Given the description of an element on the screen output the (x, y) to click on. 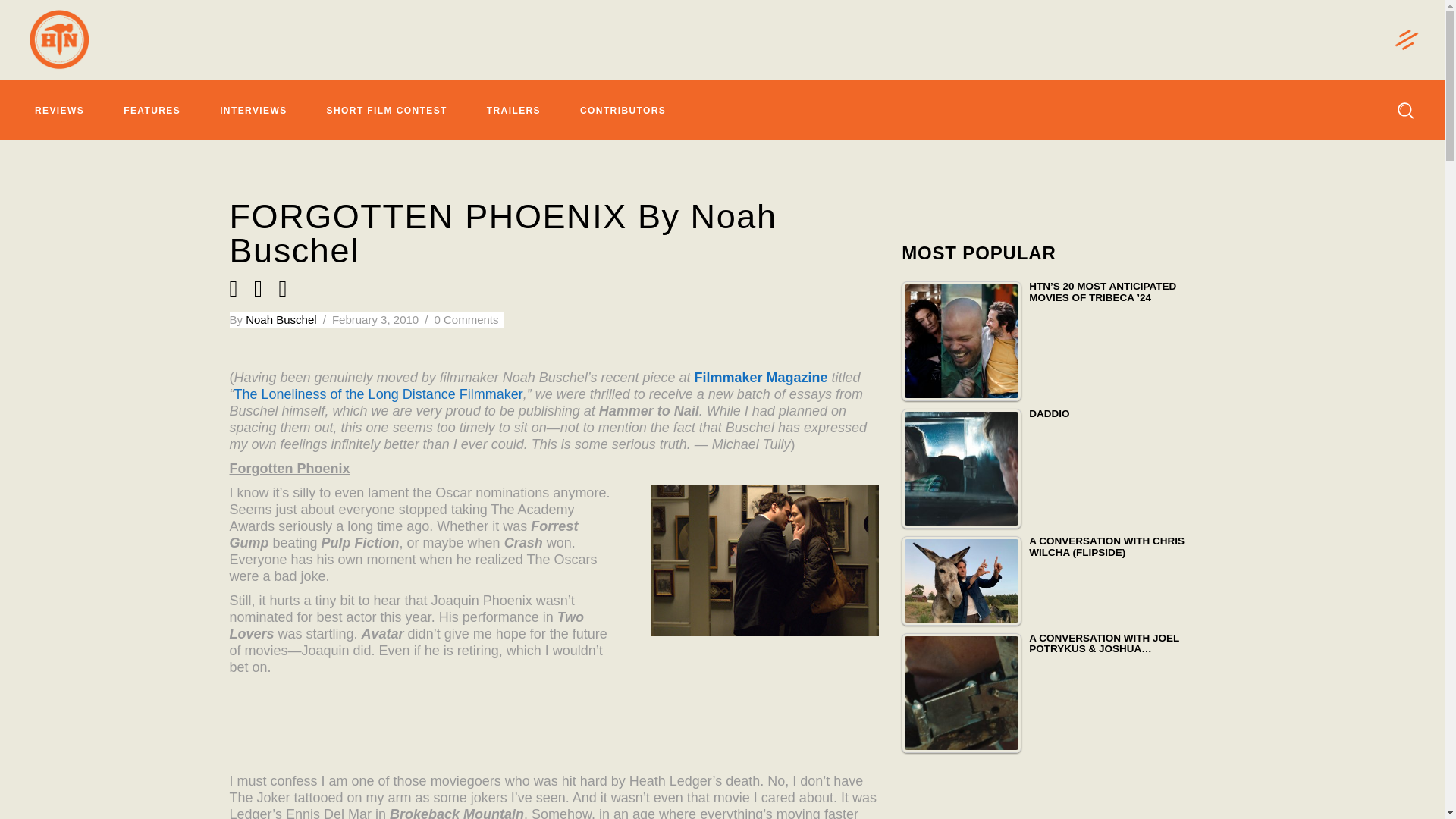
SHORT FILM CONTEST (387, 110)
FEATURES (152, 110)
TRAILERS (513, 110)
INTERVIEWS (253, 110)
REVIEWS (59, 110)
twoloversstill5 (764, 560)
